Given the description of an element on the screen output the (x, y) to click on. 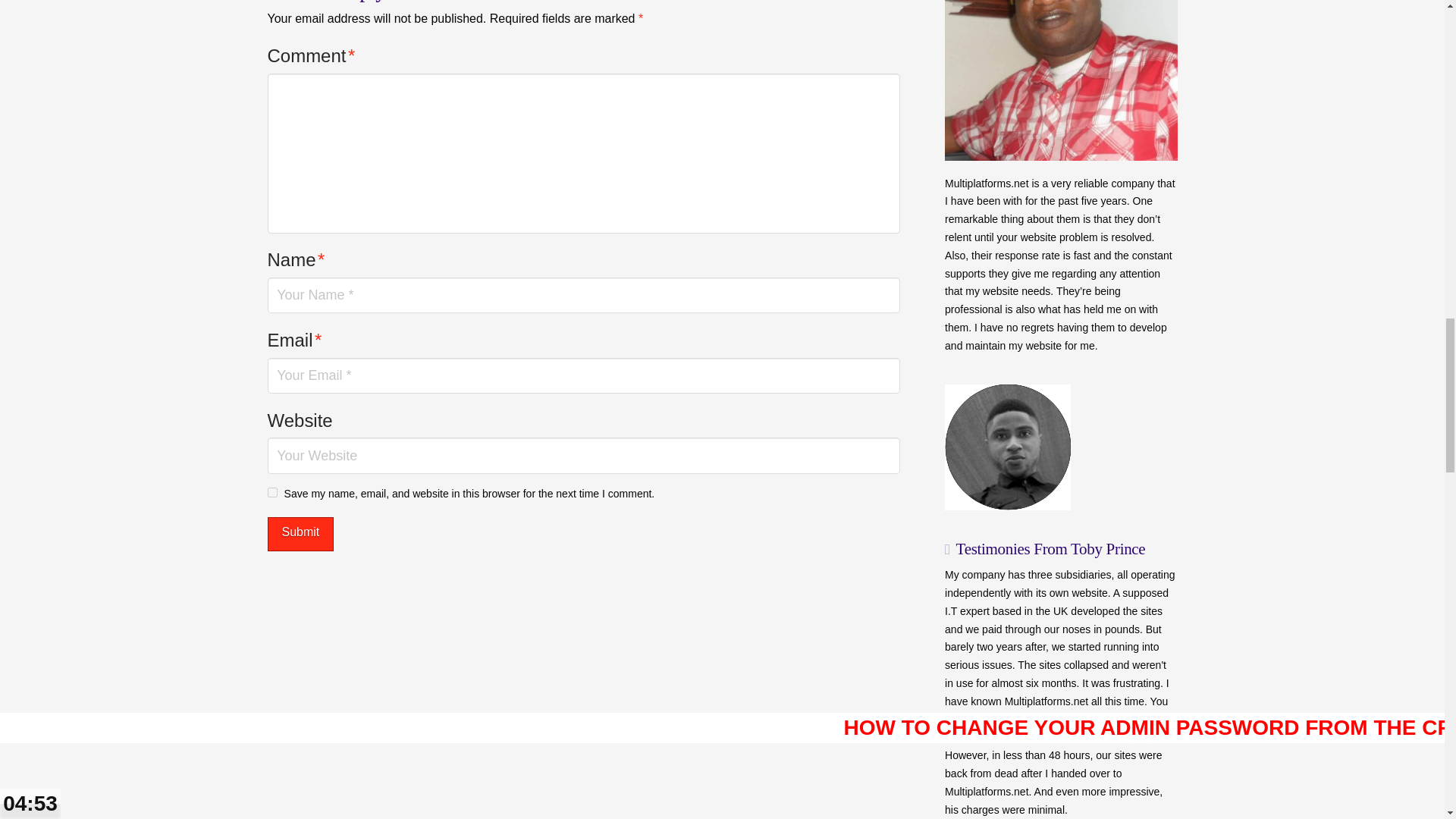
Submit (299, 533)
Submit (299, 533)
yes (271, 492)
